Given the description of an element on the screen output the (x, y) to click on. 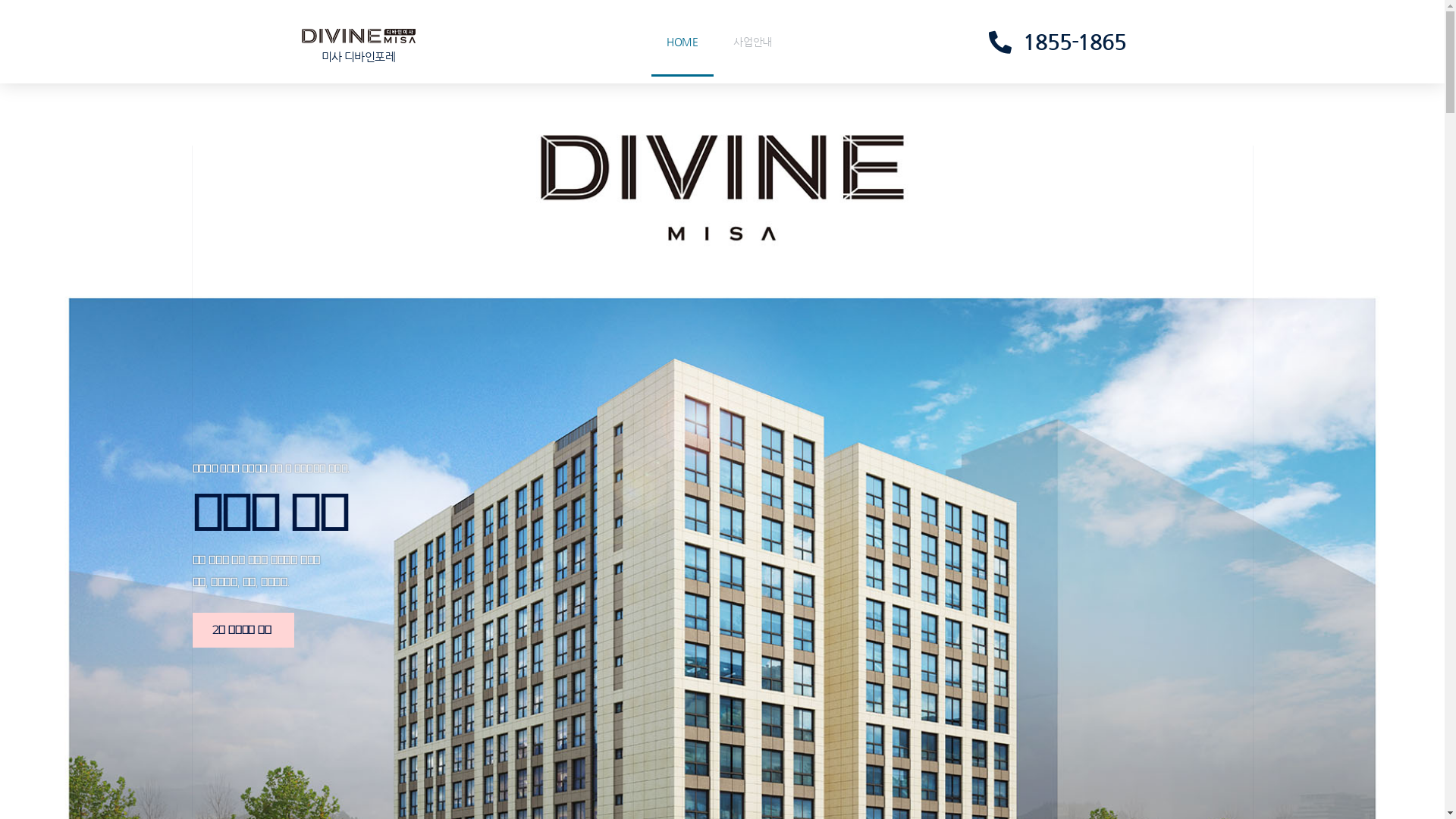
HOME Element type: text (682, 41)
